Given the description of an element on the screen output the (x, y) to click on. 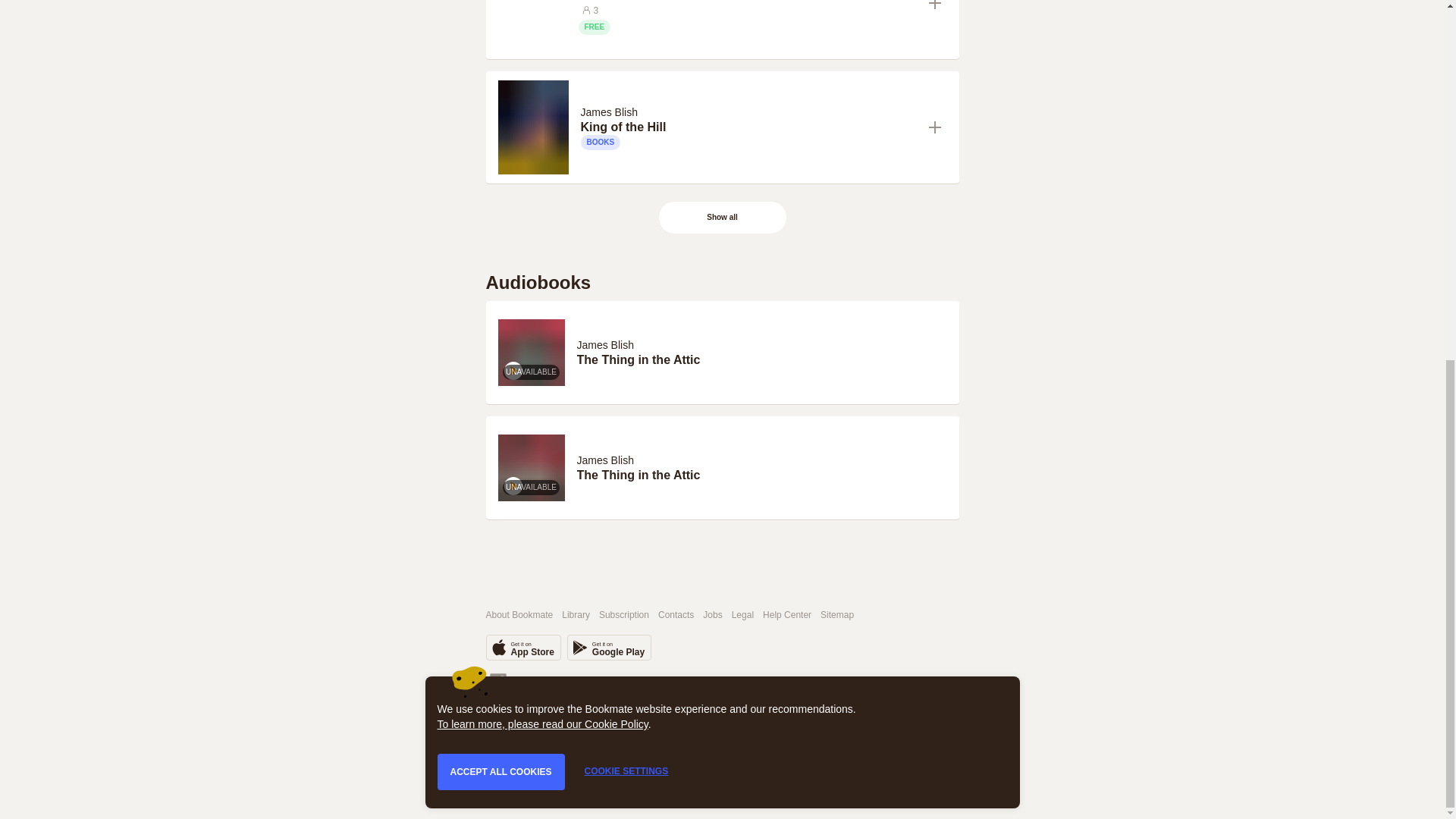
King of the Hill (748, 127)
About Bookmate (518, 614)
James Blish (604, 345)
Sitemap (837, 614)
The Thing in the Attic (761, 359)
The Thing in the Attic (522, 647)
James Blish (608, 647)
